Given the description of an element on the screen output the (x, y) to click on. 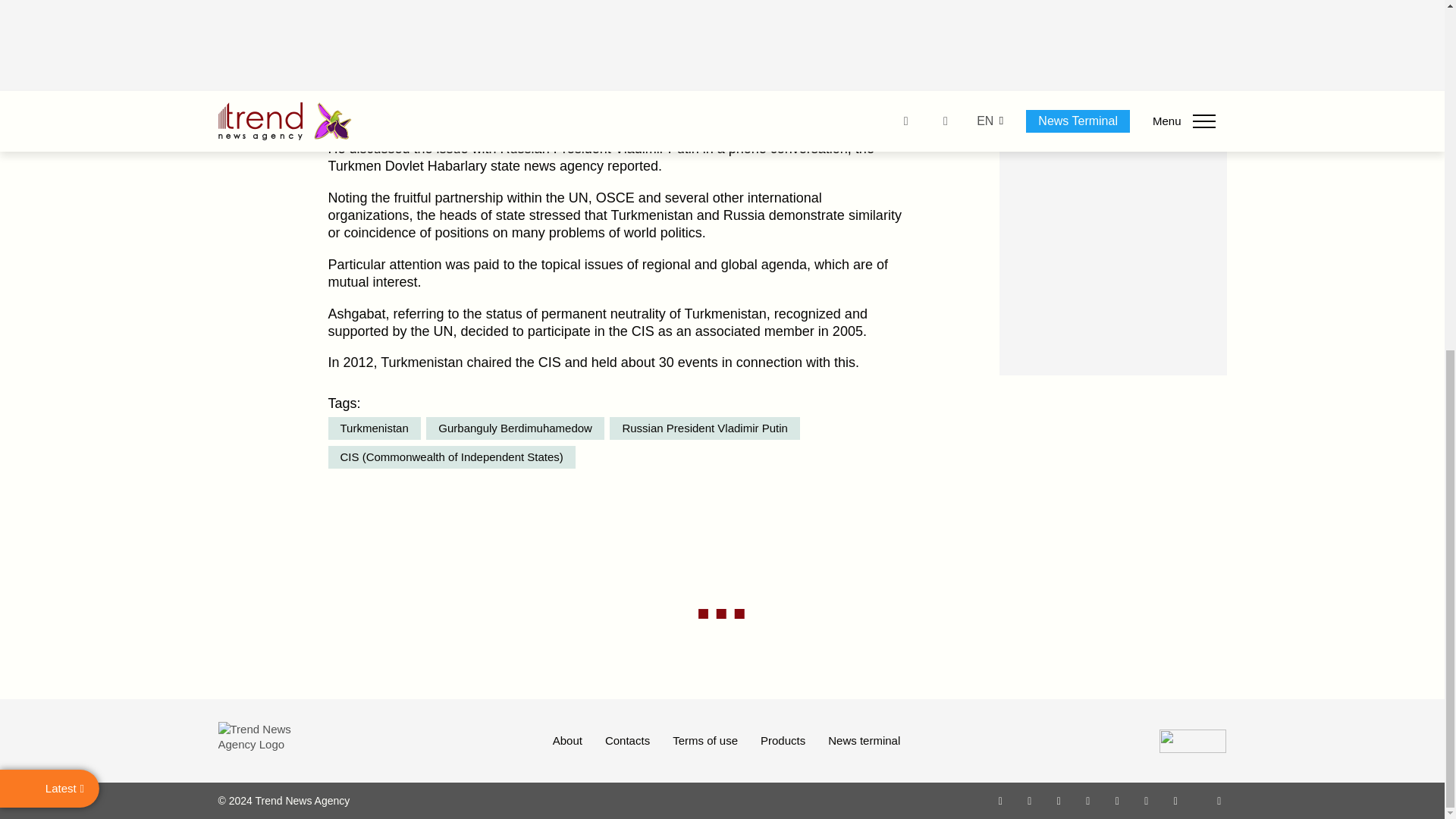
RSS Feed (1219, 800)
Whatsapp (1000, 800)
Telegram (1117, 800)
Twitter (1059, 800)
LinkedIn (1146, 800)
Youtube (1088, 800)
Android App (1176, 800)
Facebook (1029, 800)
